Given the description of an element on the screen output the (x, y) to click on. 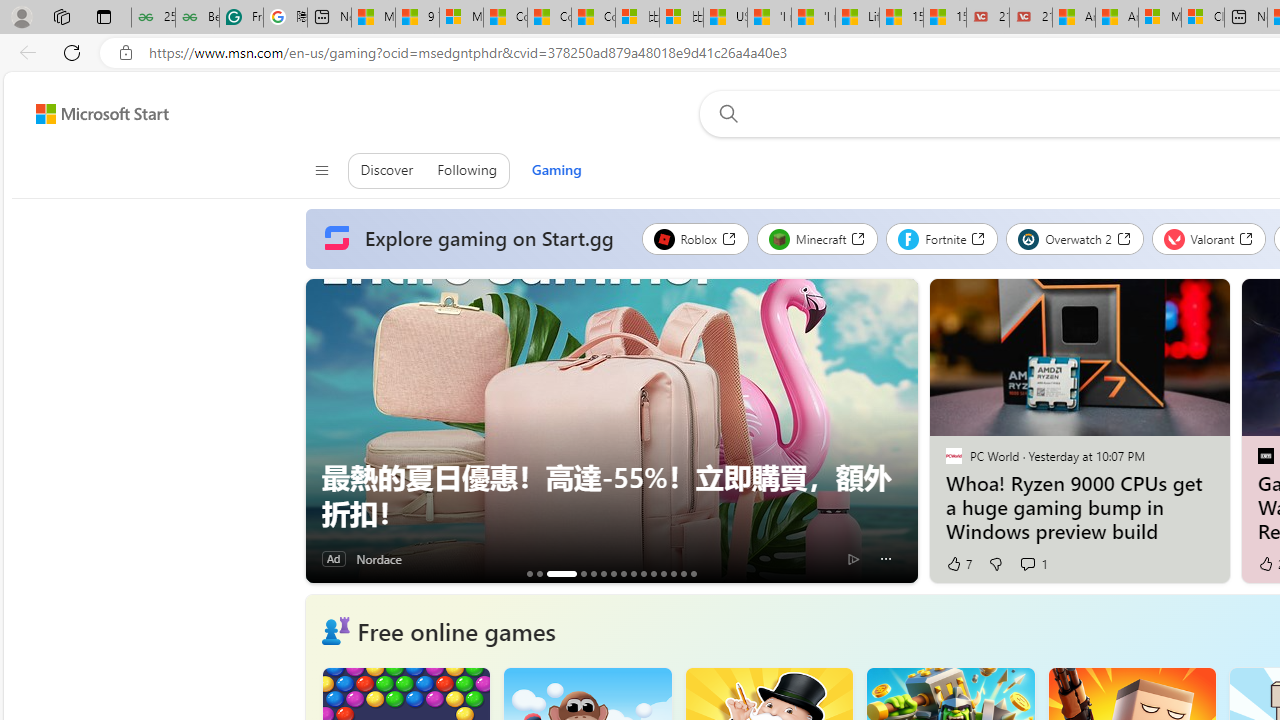
Gaming (555, 169)
Cloud Computing Services | Microsoft Azure (1202, 17)
Explore gaming on Start.gg (473, 239)
Hide this story (1169, 302)
Microsoft Services Agreement (1160, 17)
21 Movies That Outdid the Books They Were Based On (1030, 17)
AutomationID: tab_nativead-infopane-3 (561, 573)
Amazon Games Has Plans for Switch 2 Console (663, 573)
View comments 1 Comment (1033, 564)
KingdomScape - Gameplay (673, 573)
CGMagazine (1264, 455)
Minecraft (817, 238)
Following (466, 170)
